Given the description of an element on the screen output the (x, y) to click on. 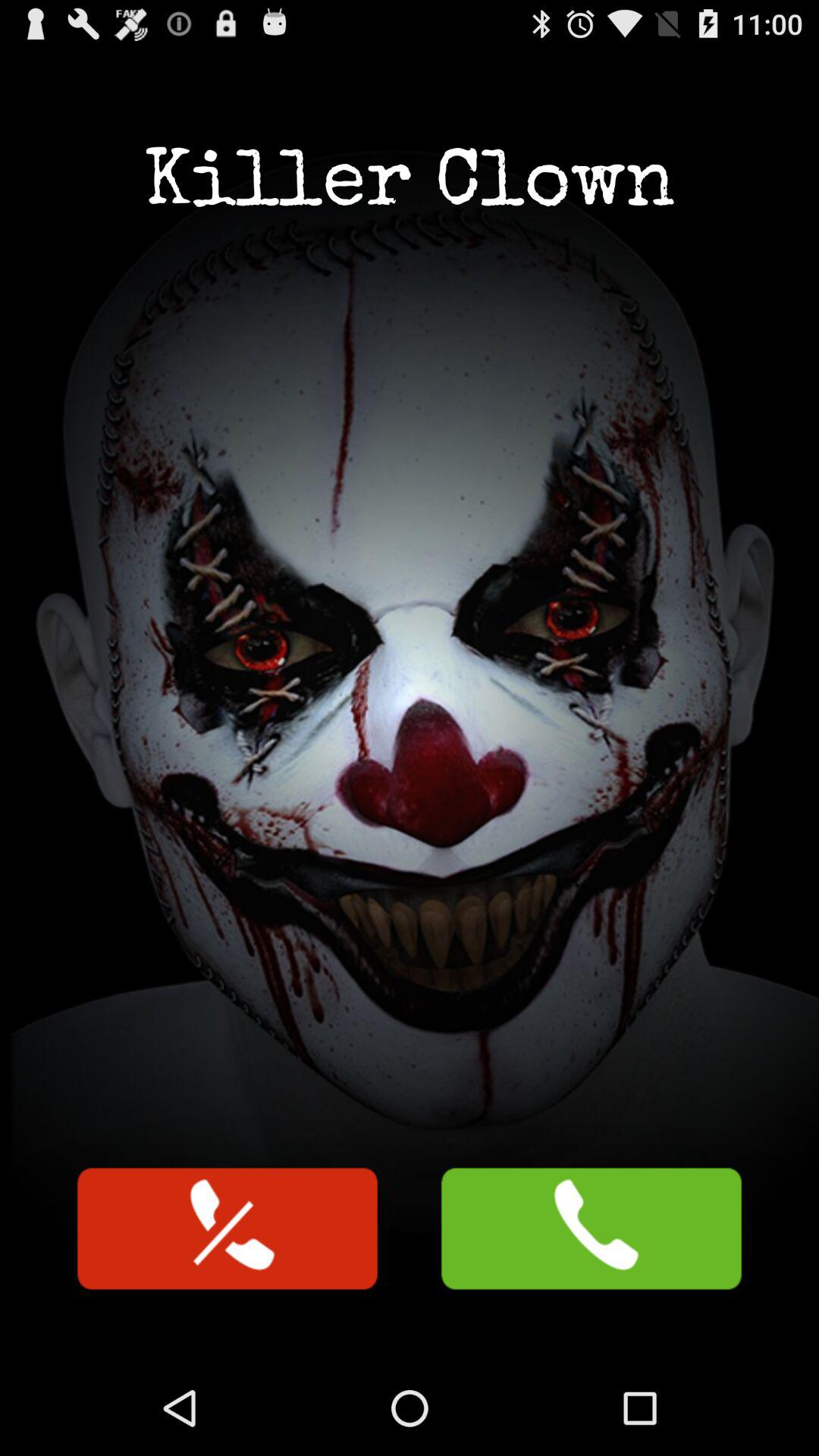
answer call (591, 1228)
